Given the description of an element on the screen output the (x, y) to click on. 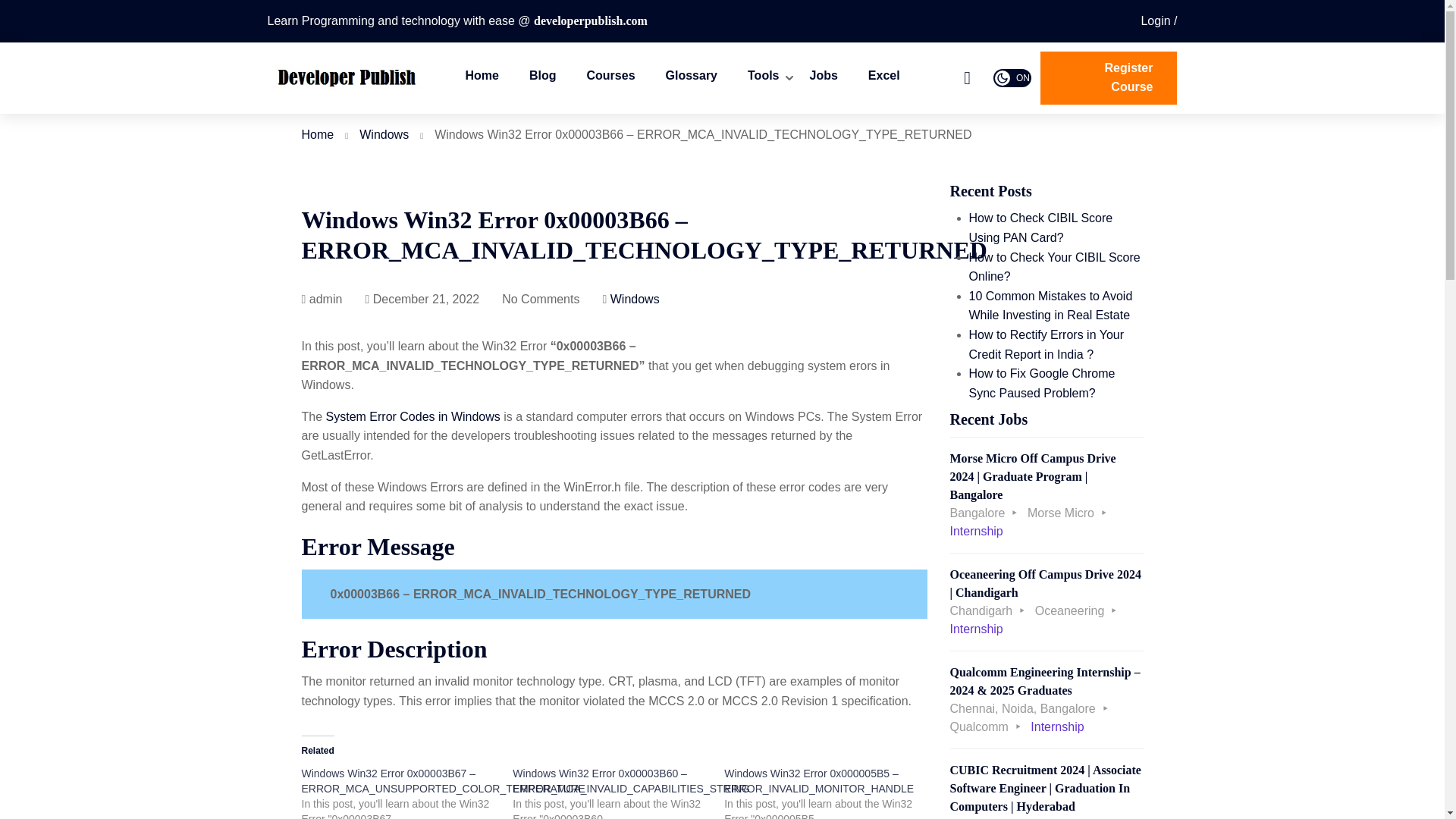
Courses (610, 77)
Register Course (1109, 77)
developerpublish.com (590, 20)
Excel (884, 77)
Login (1158, 20)
Blog (542, 77)
How to Check CIBIL Score Using PAN Card? (1041, 227)
Windows (384, 133)
How to Rectify Errors in Your Credit Report in India ? (1046, 344)
Windows (634, 298)
